Given the description of an element on the screen output the (x, y) to click on. 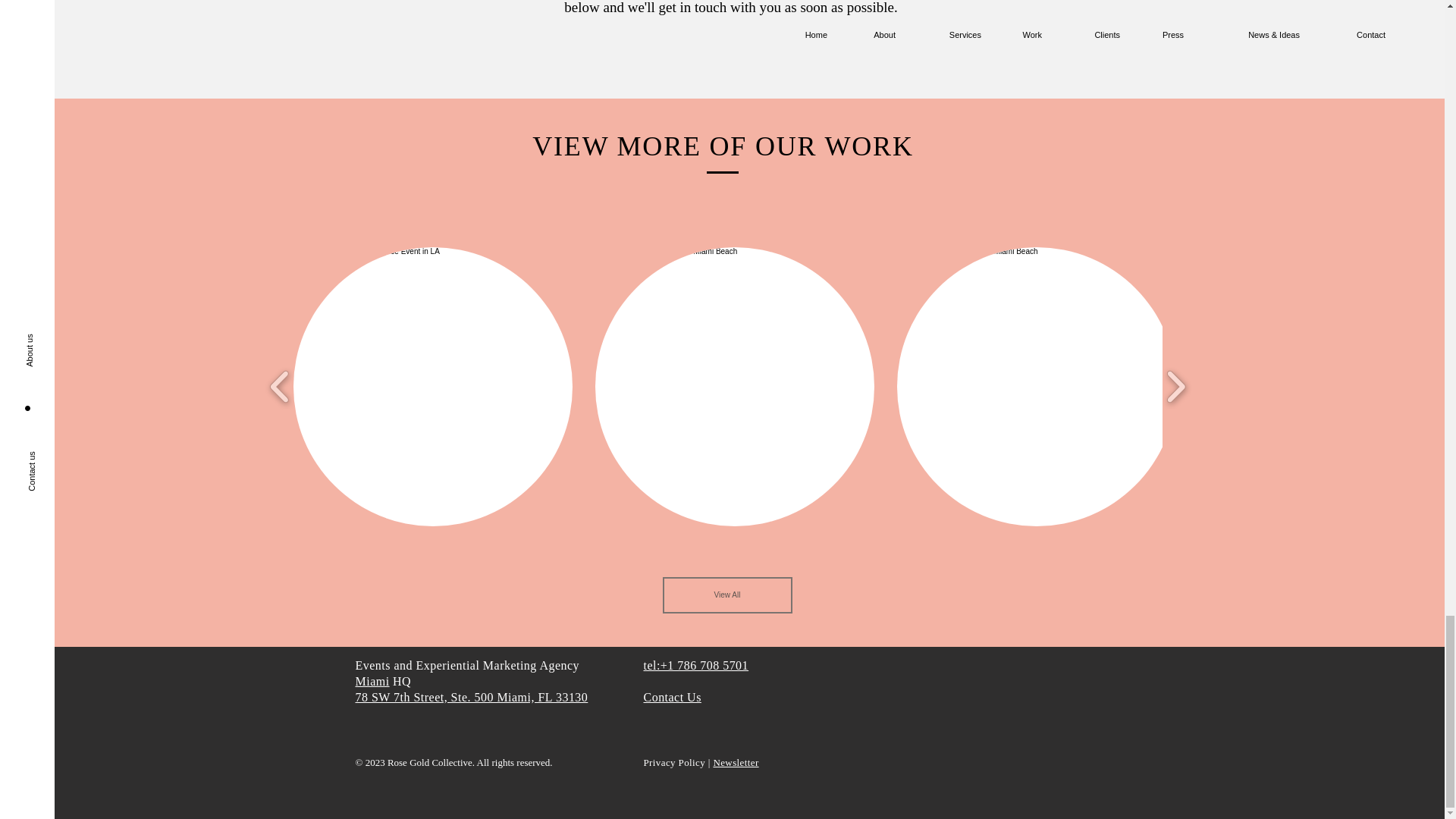
78 SW 7th Street, Ste. 500 Miami, FL 33130 (471, 697)
View All (727, 595)
Contact Us (671, 697)
Miami (371, 680)
Newsletter (735, 762)
